Given the description of an element on the screen output the (x, y) to click on. 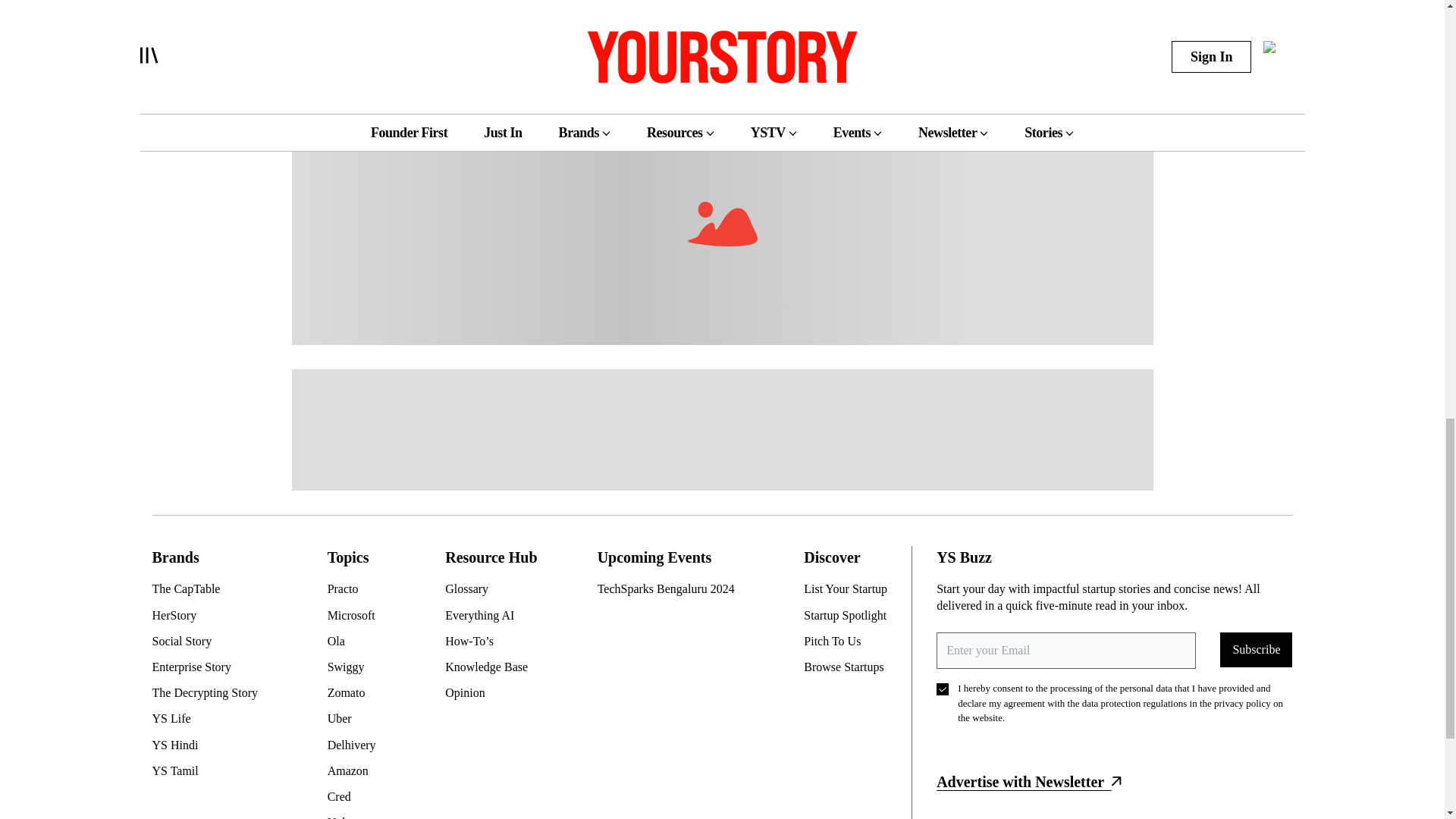
Swiggy (357, 667)
TechSparks Bengaluru 2024 (671, 588)
List Your Startup (851, 588)
Zomato (357, 692)
Microsoft (357, 615)
Cred (357, 796)
Delhivery (357, 744)
Uber (357, 718)
Opinion (492, 692)
The Decrypting Story (210, 692)
